Given the description of an element on the screen output the (x, y) to click on. 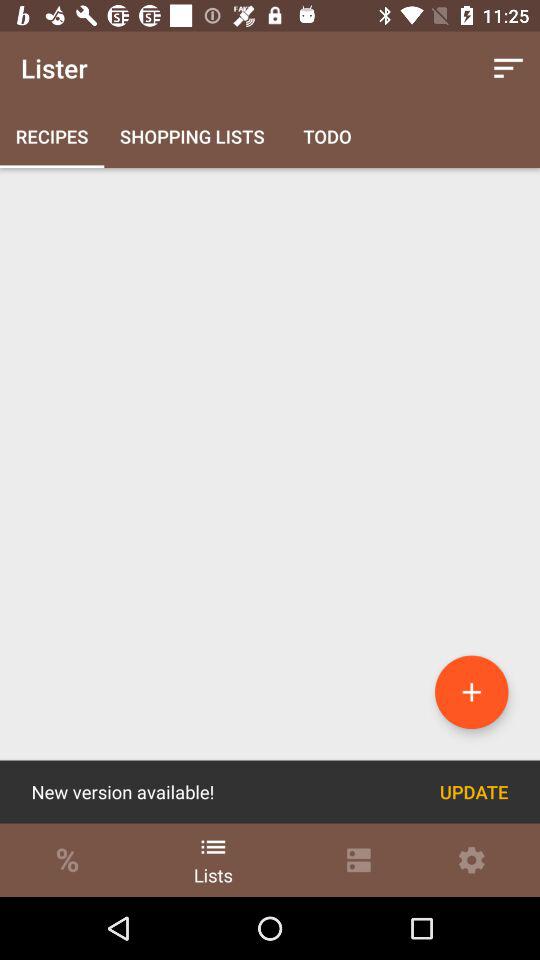
launch item to the right of lister item (508, 67)
